Given the description of an element on the screen output the (x, y) to click on. 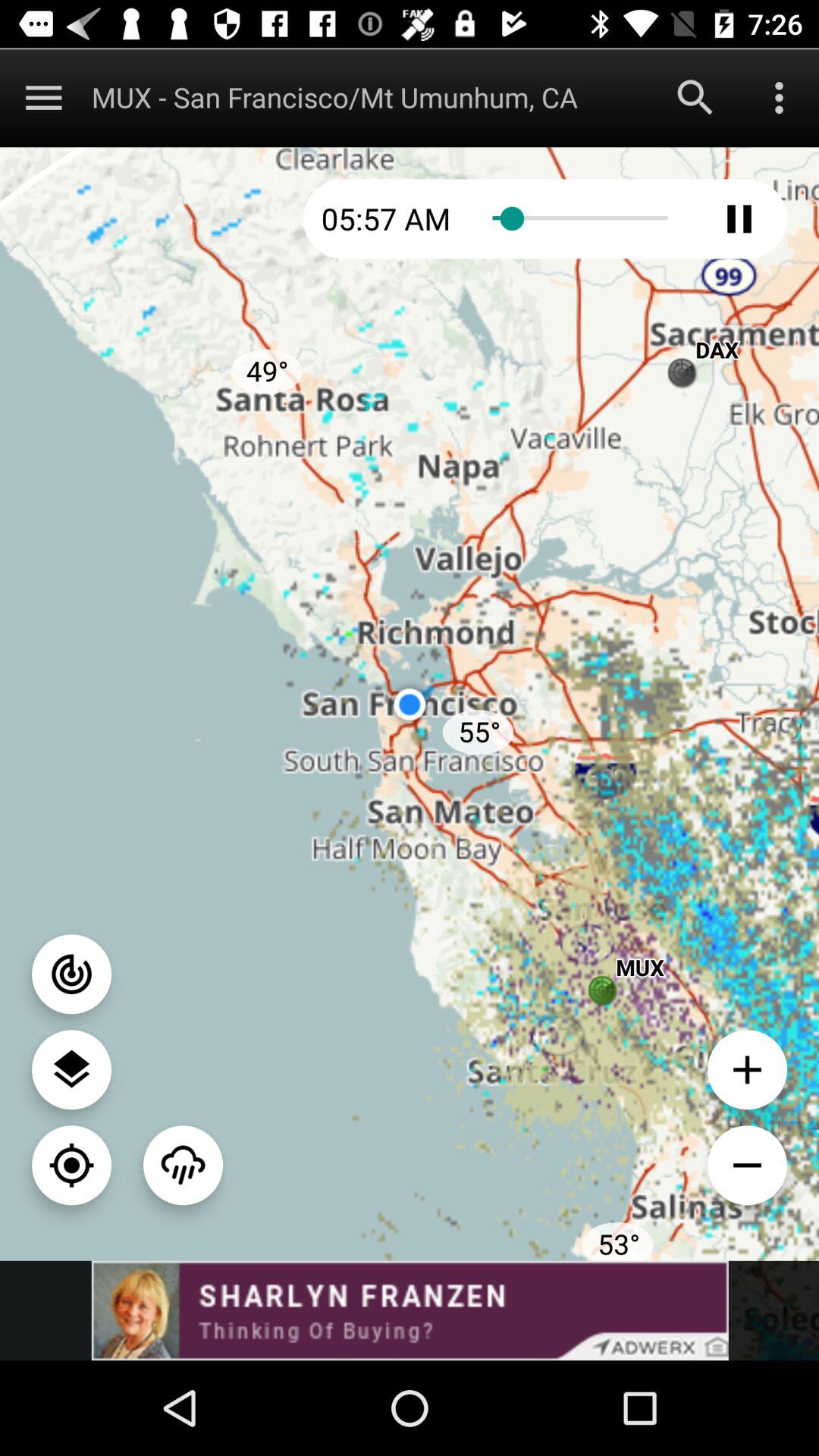
pause radar (739, 218)
